Given the description of an element on the screen output the (x, y) to click on. 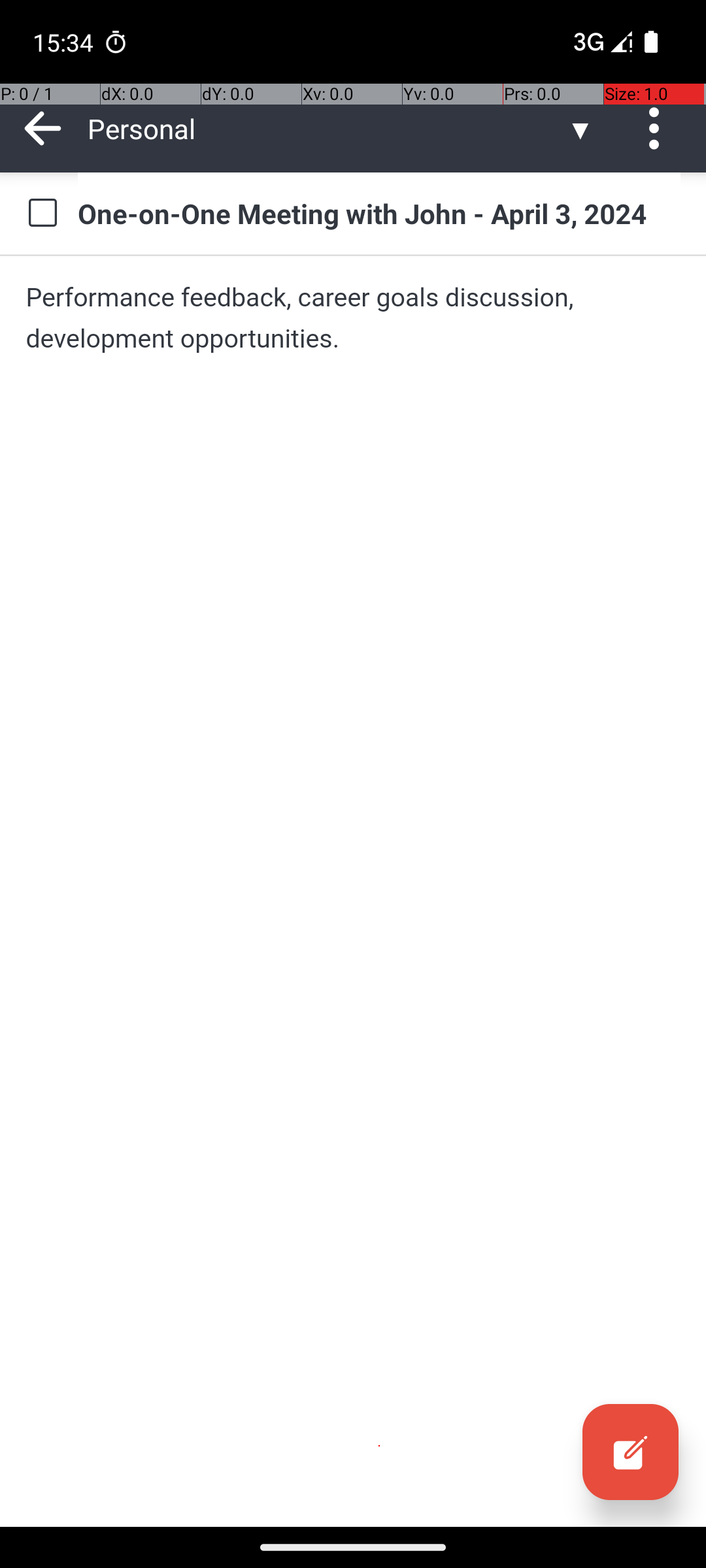
Performance feedback, career goals discussion, development opportunities. Element type: android.widget.TextView (352, 317)
